Given the description of an element on the screen output the (x, y) to click on. 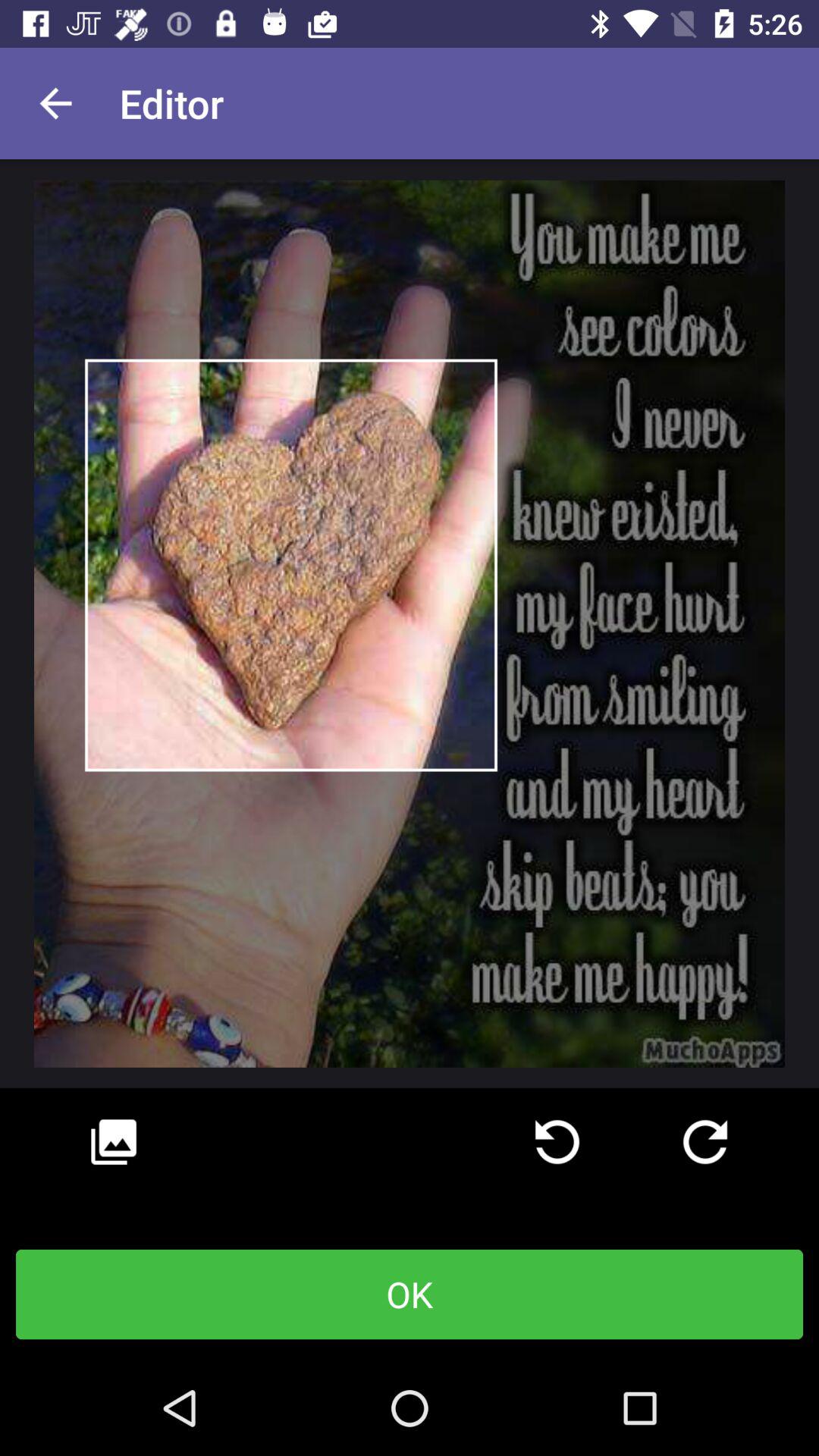
the option is used to reload the page (557, 1142)
